Given the description of an element on the screen output the (x, y) to click on. 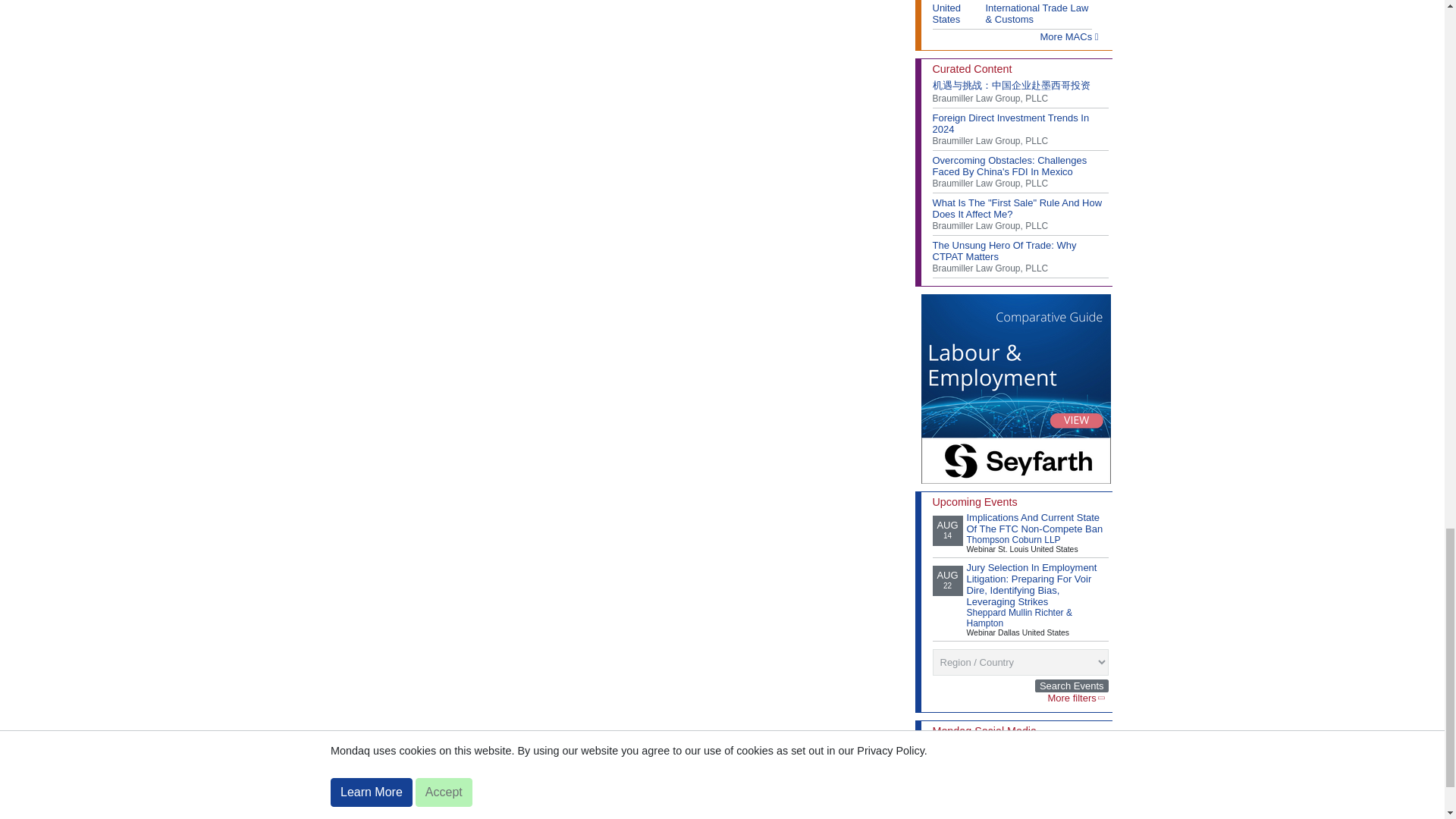
Search Events (1071, 685)
